Given the description of an element on the screen output the (x, y) to click on. 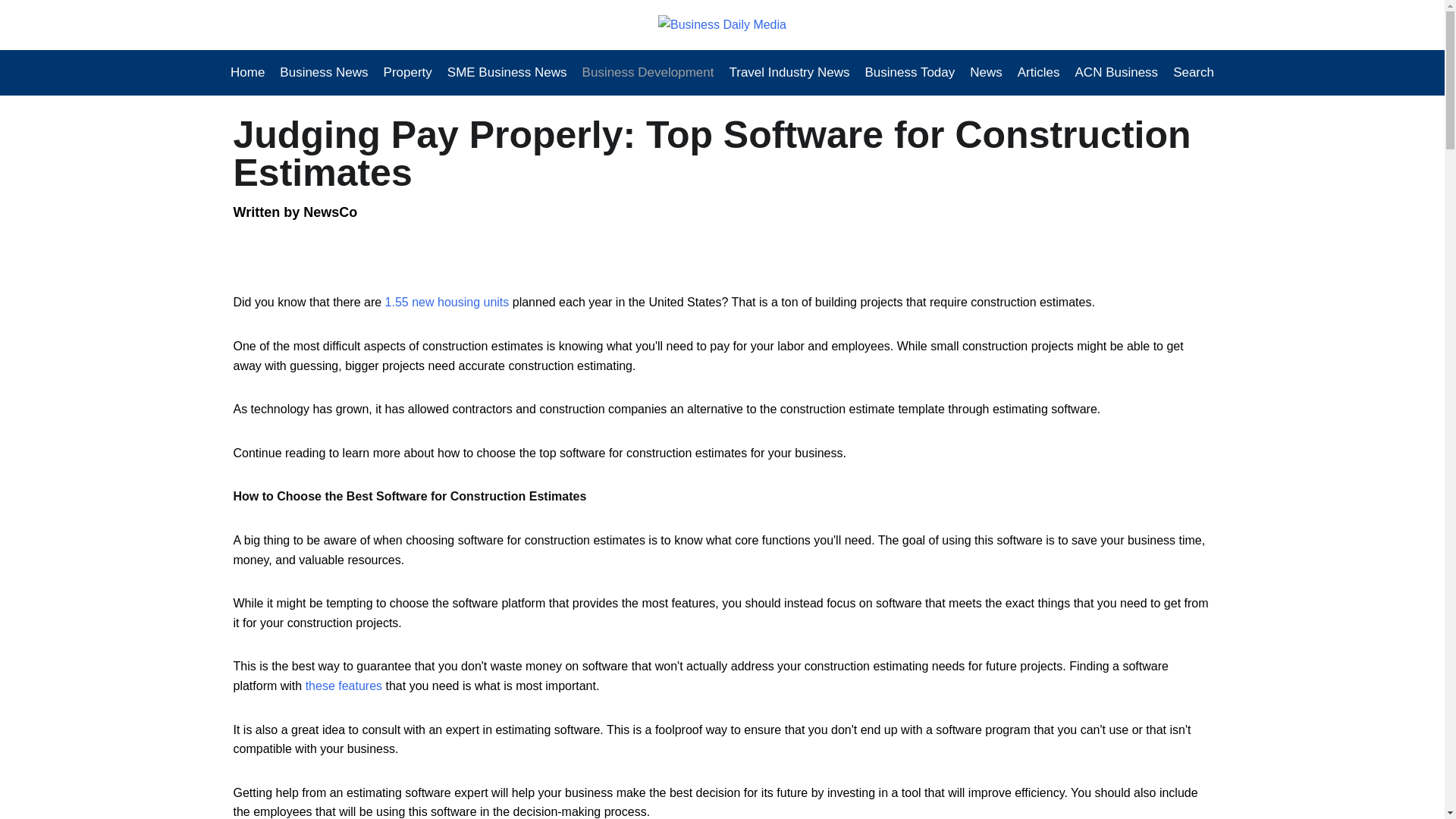
these features (343, 685)
Search (1190, 72)
Travel Industry News (788, 72)
Business News (323, 72)
Property (407, 72)
Business Development (648, 72)
1.55 new housing units (447, 301)
Home (251, 72)
ACN Business (1116, 72)
News (986, 72)
